Given the description of an element on the screen output the (x, y) to click on. 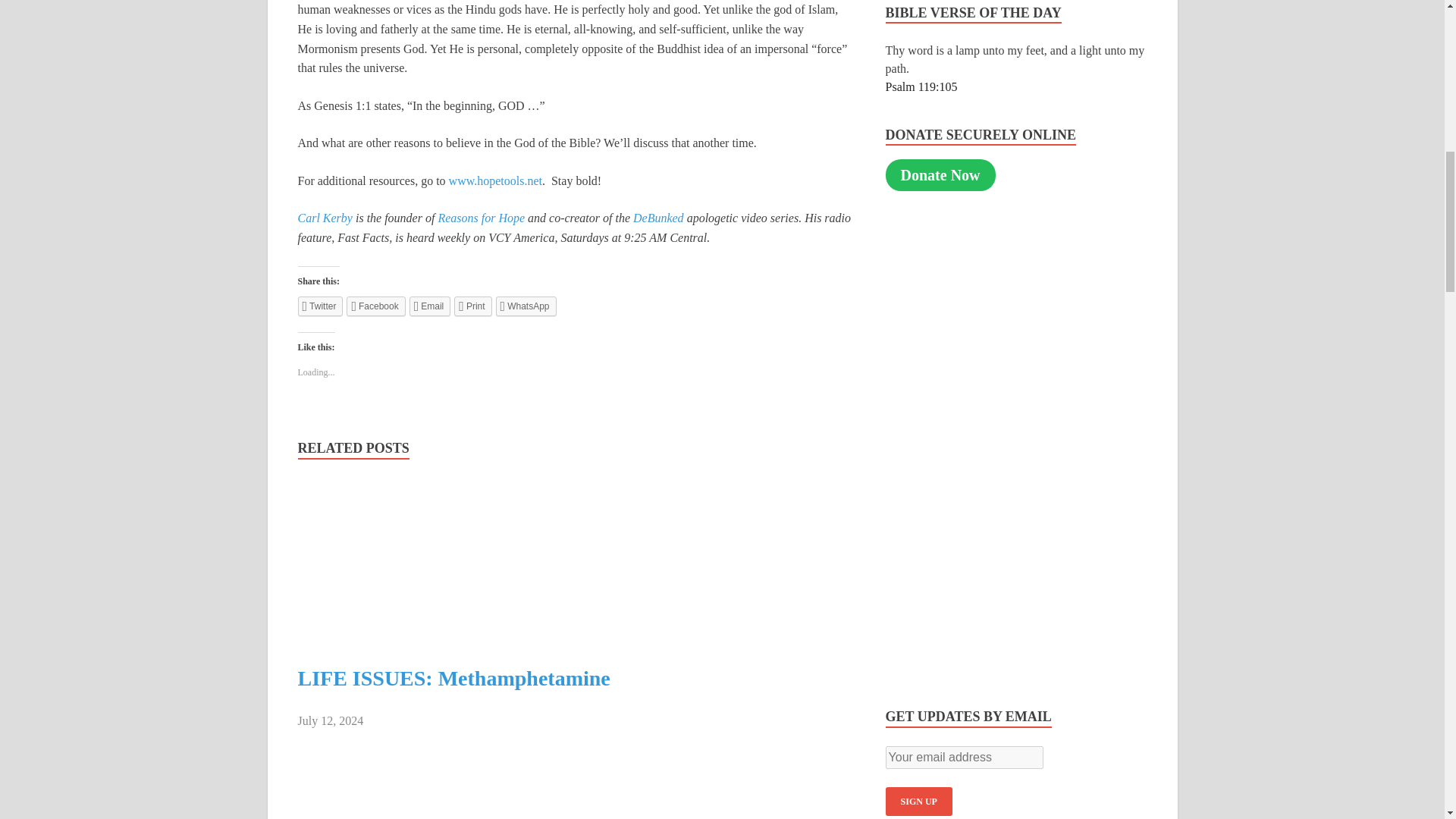
Sign up (918, 801)
Click to share on WhatsApp (526, 306)
Click to print (473, 306)
LIFE ISSUES: Methamphetamine (428, 635)
Click to share on Twitter (319, 306)
Click to share on Facebook (375, 306)
LIFE ISSUES: Methamphetamine (453, 678)
Click to email a link to a friend (430, 306)
